Given the description of an element on the screen output the (x, y) to click on. 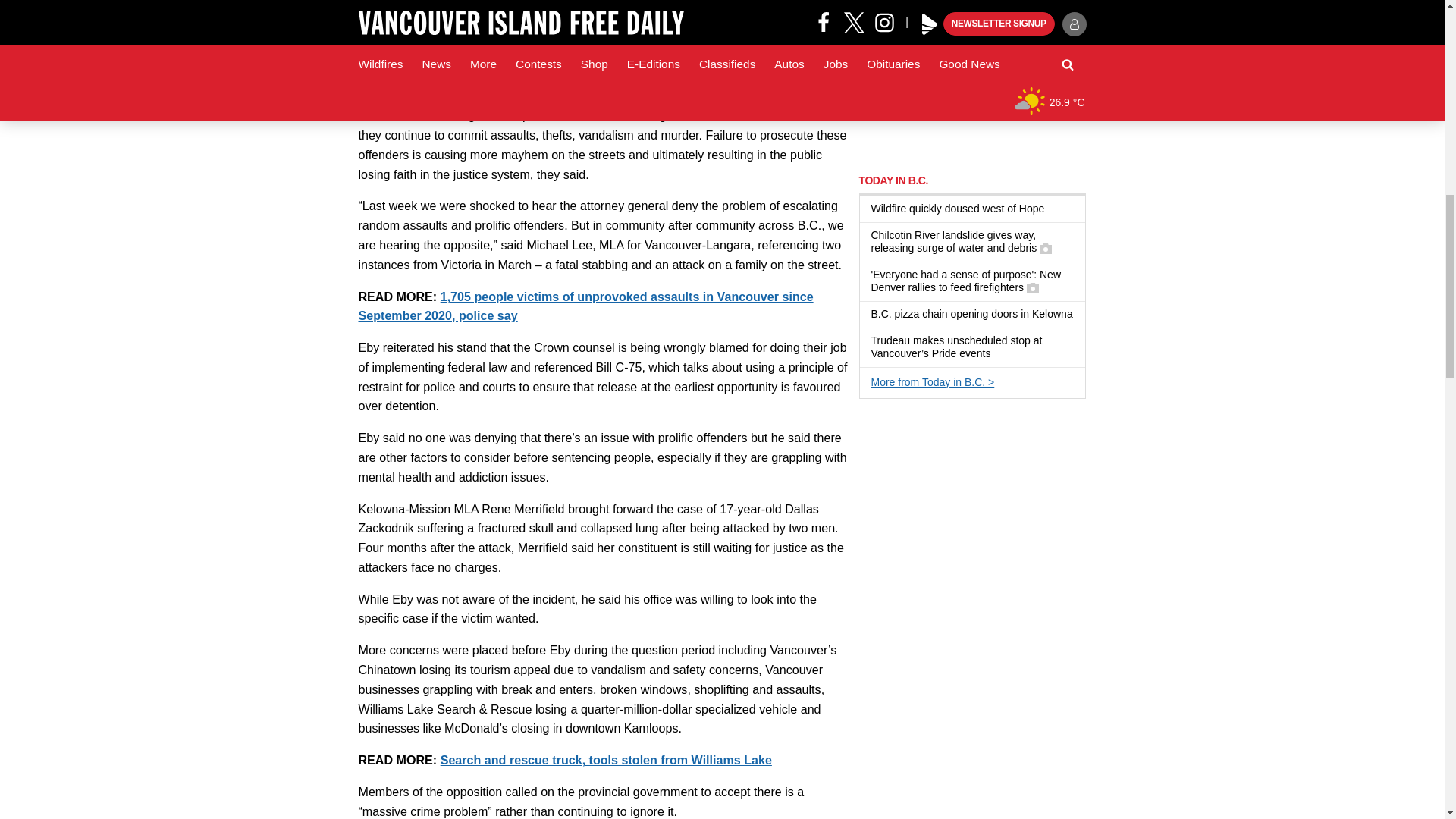
Has a gallery (1032, 287)
Has a gallery (1045, 248)
